Given the description of an element on the screen output the (x, y) to click on. 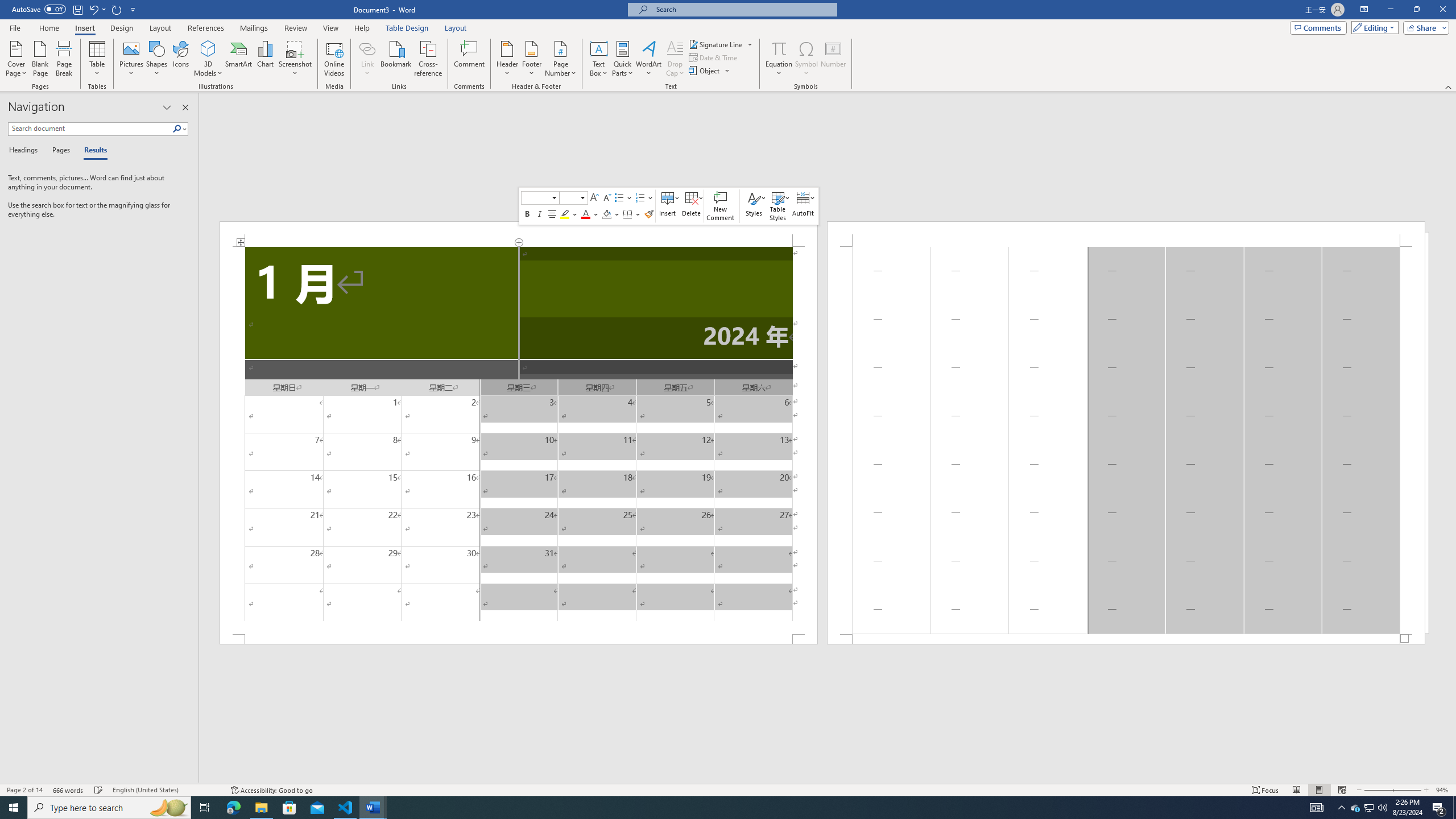
Class: NetUITextbox (569, 197)
Cover Page (16, 58)
Page Break (63, 58)
Table (97, 58)
Styles (753, 205)
Screenshot (295, 58)
Undo Apply Quick Style (96, 9)
Header (507, 58)
Equation (778, 58)
Bookmark... (396, 58)
